Given the description of an element on the screen output the (x, y) to click on. 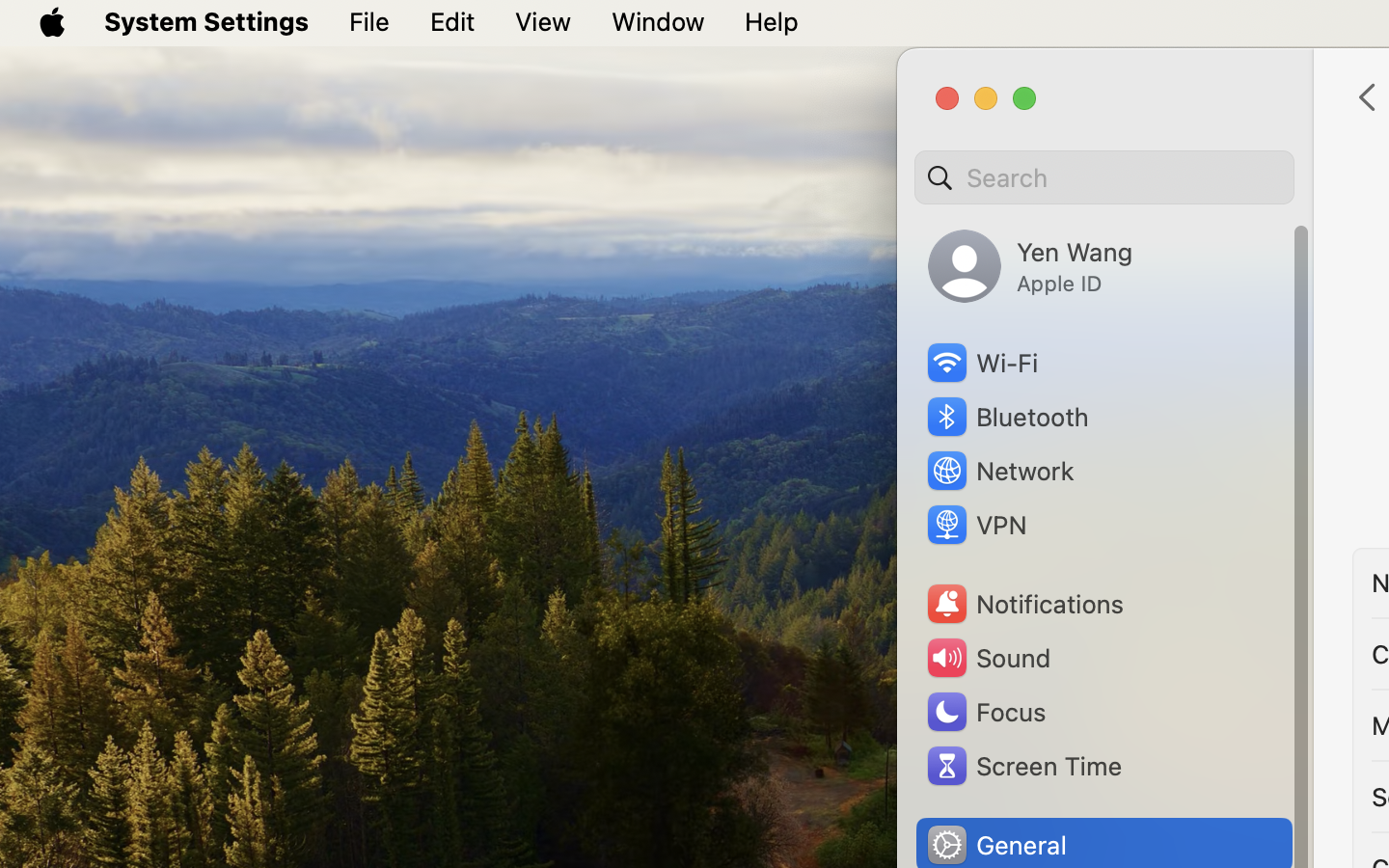
Focus Element type: AXStaticText (984, 711)
VPN Element type: AXStaticText (975, 524)
Screen Time Element type: AXStaticText (1023, 765)
Bluetooth Element type: AXStaticText (1006, 416)
General Element type: AXStaticText (995, 844)
